Given the description of an element on the screen output the (x, y) to click on. 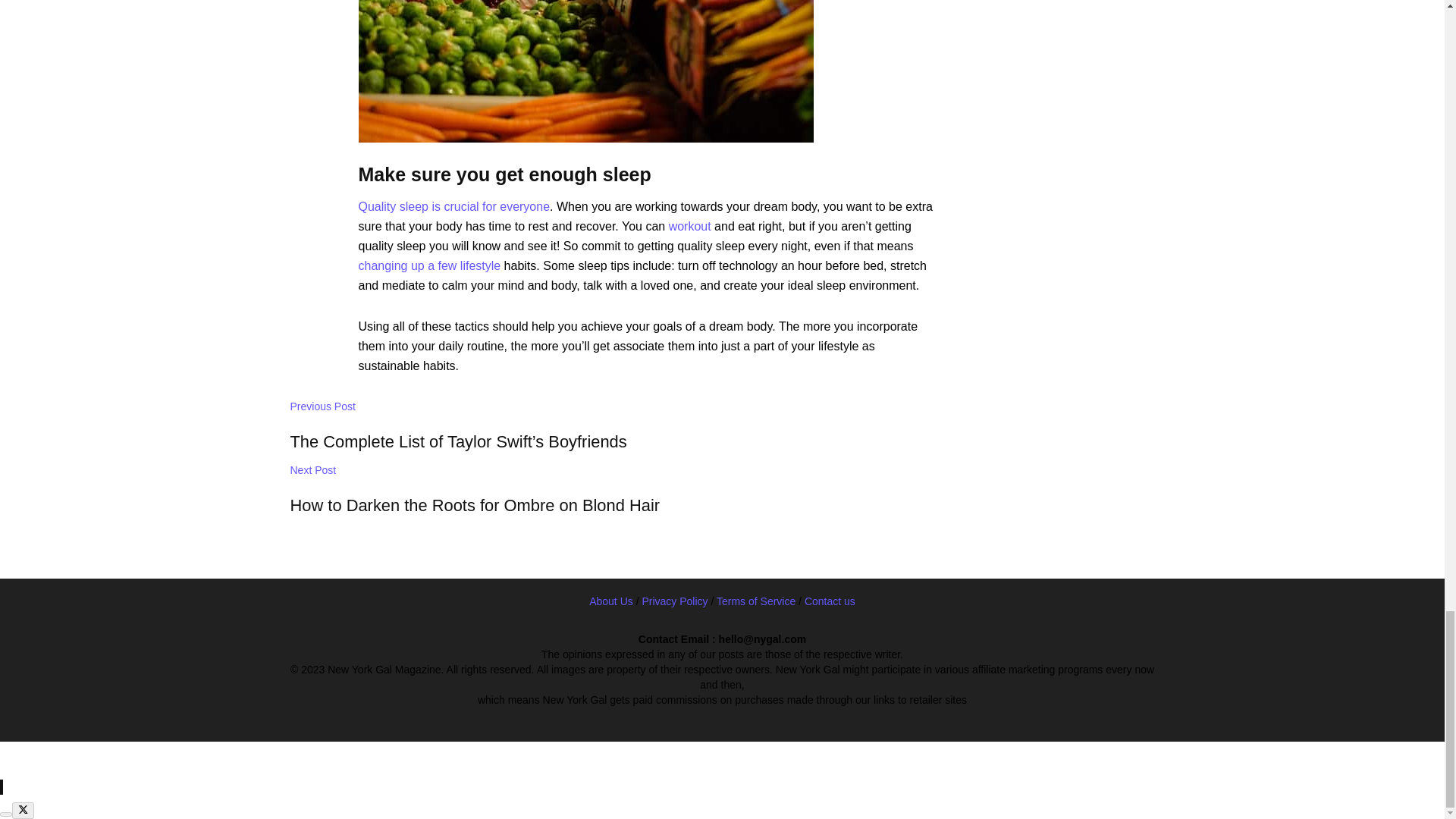
changing up a few lifestyle (611, 490)
Quality sleep is crucial for everyone (429, 265)
workout (454, 205)
